Given the description of an element on the screen output the (x, y) to click on. 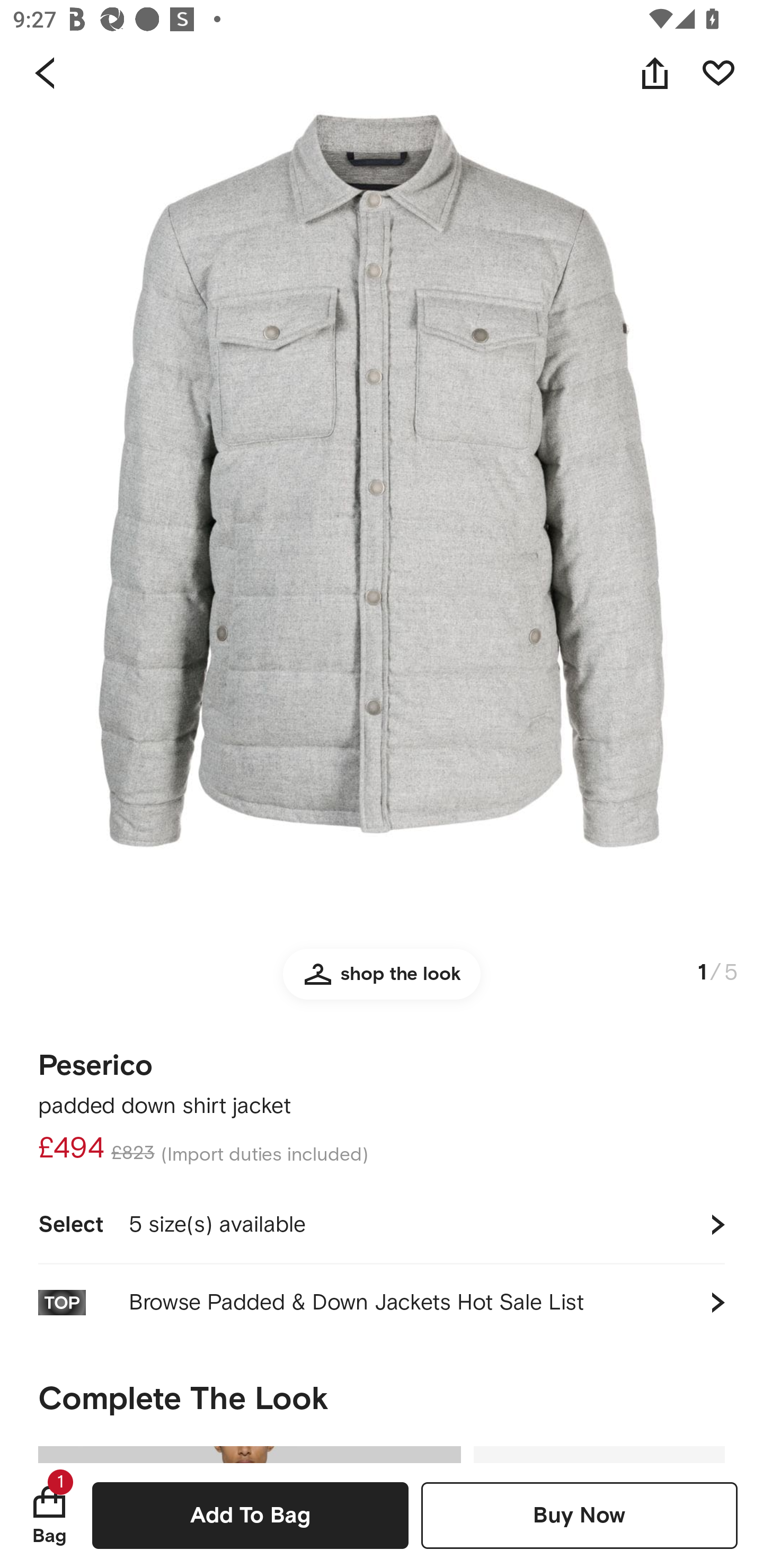
shop the look (381, 982)
Peserico (95, 1059)
Select 5 size(s) available (381, 1224)
Browse Padded & Down Jackets Hot Sale List (381, 1301)
Bag 1 (49, 1515)
Add To Bag (250, 1515)
Buy Now (579, 1515)
